Given the description of an element on the screen output the (x, y) to click on. 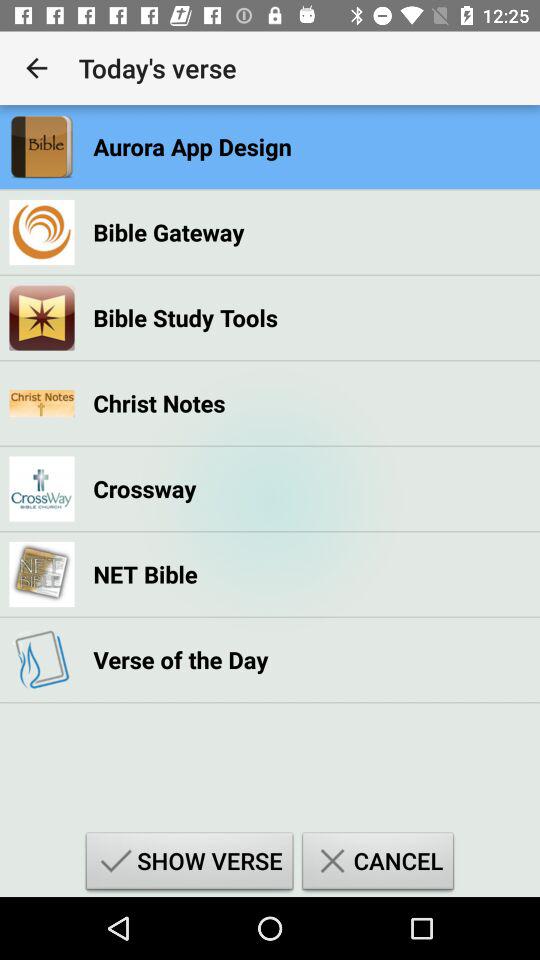
launch the icon next to the today's verse (36, 68)
